Given the description of an element on the screen output the (x, y) to click on. 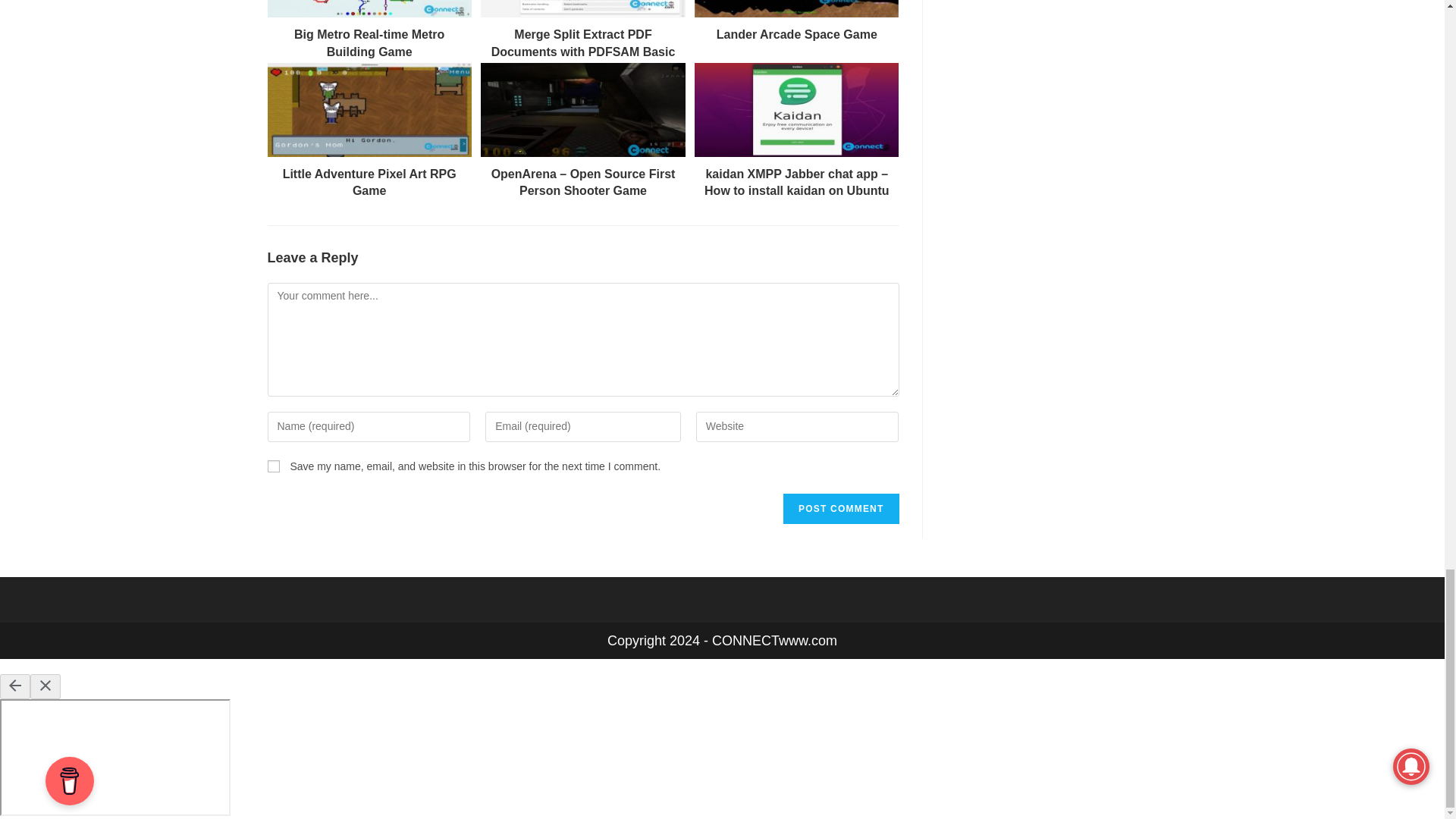
yes (272, 466)
Post Comment (840, 508)
